Given the description of an element on the screen output the (x, y) to click on. 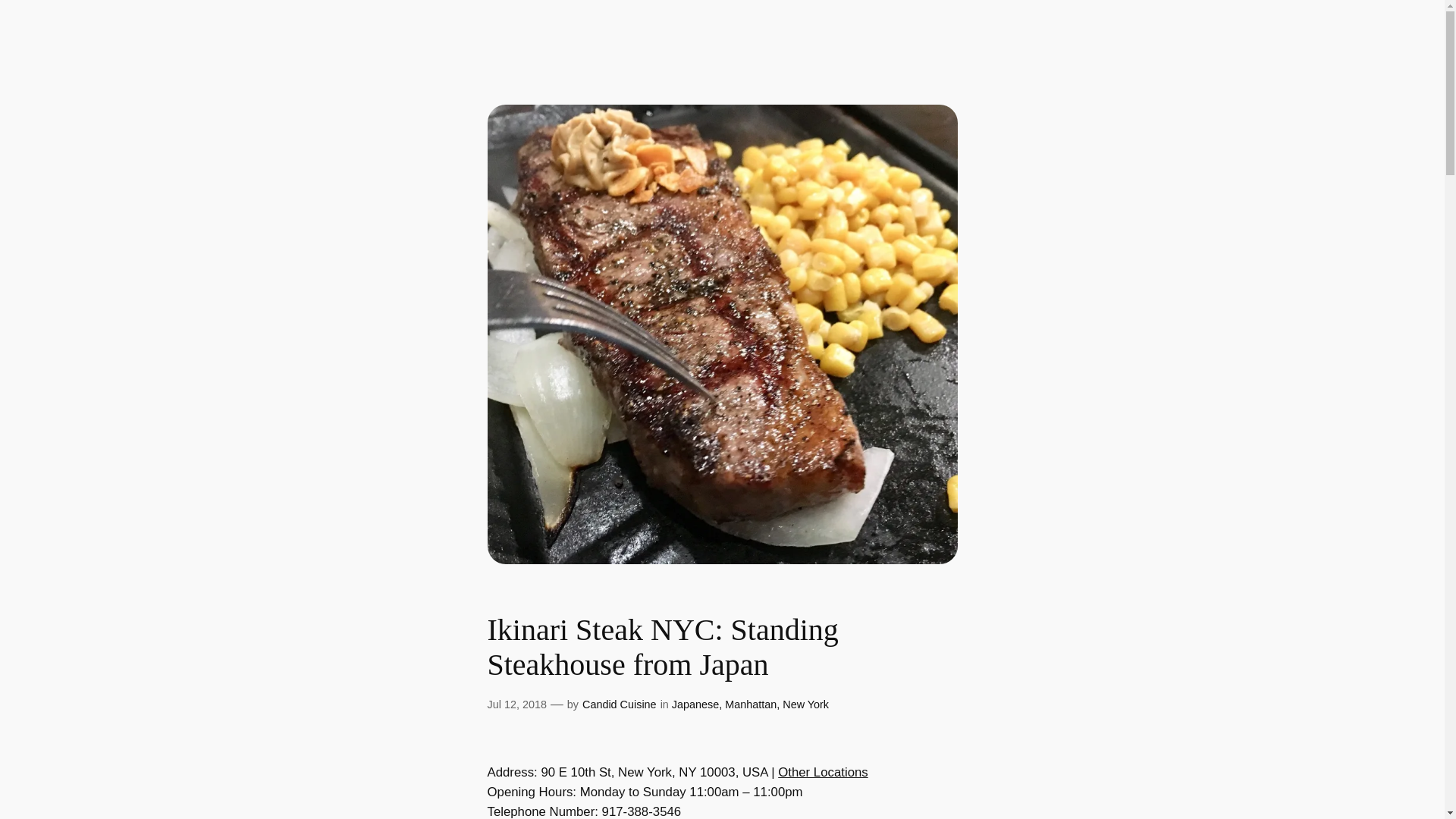
Other Locations (822, 771)
Jul 12, 2018 (516, 704)
Japanese (695, 704)
Candid Cuisine (619, 704)
New York (805, 704)
Manhattan (750, 704)
